Given the description of an element on the screen output the (x, y) to click on. 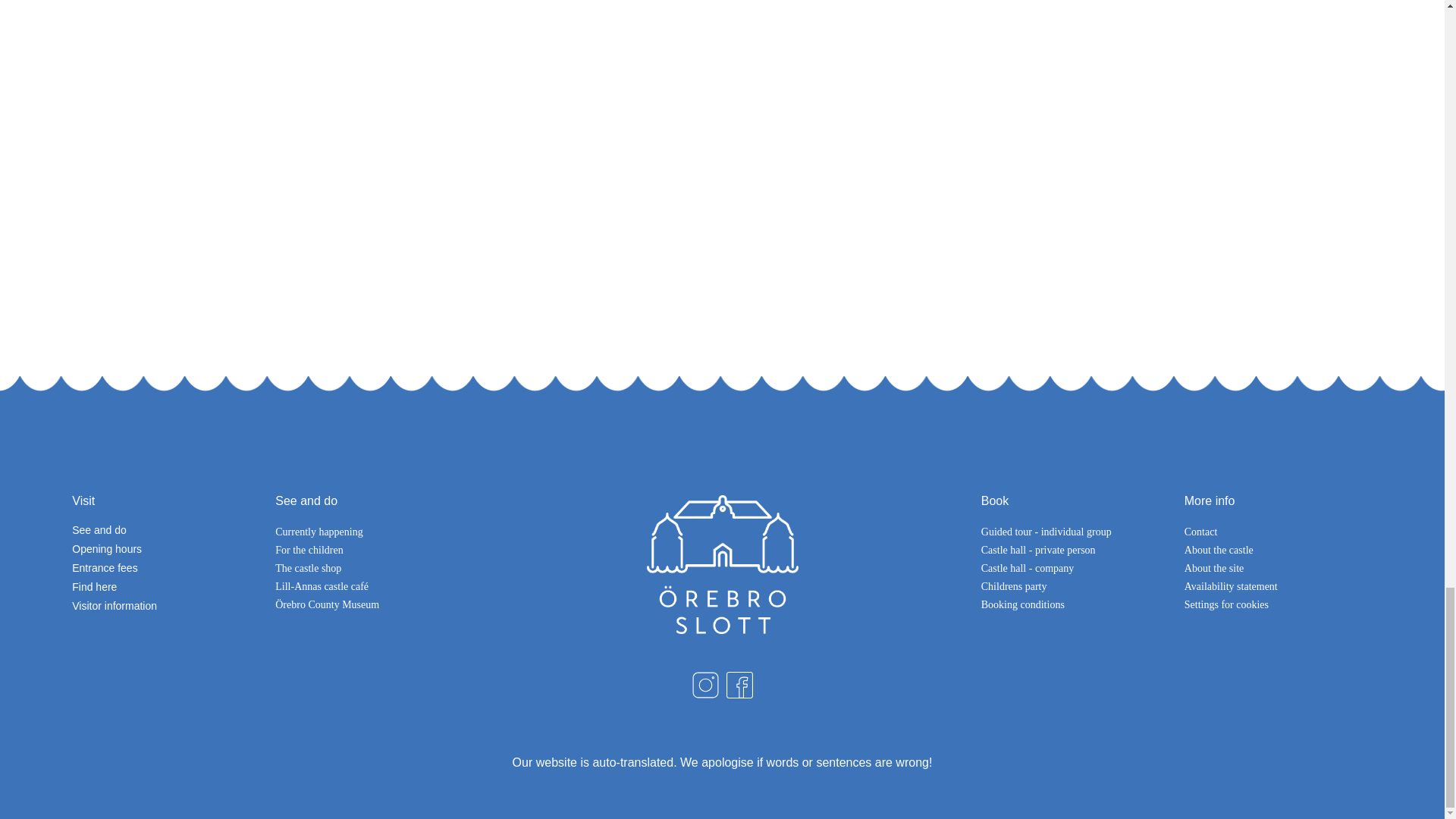
Find here (165, 586)
Visitor information (165, 605)
Entrance fees (165, 567)
See and do (165, 529)
Opening hours (165, 548)
